Given the description of an element on the screen output the (x, y) to click on. 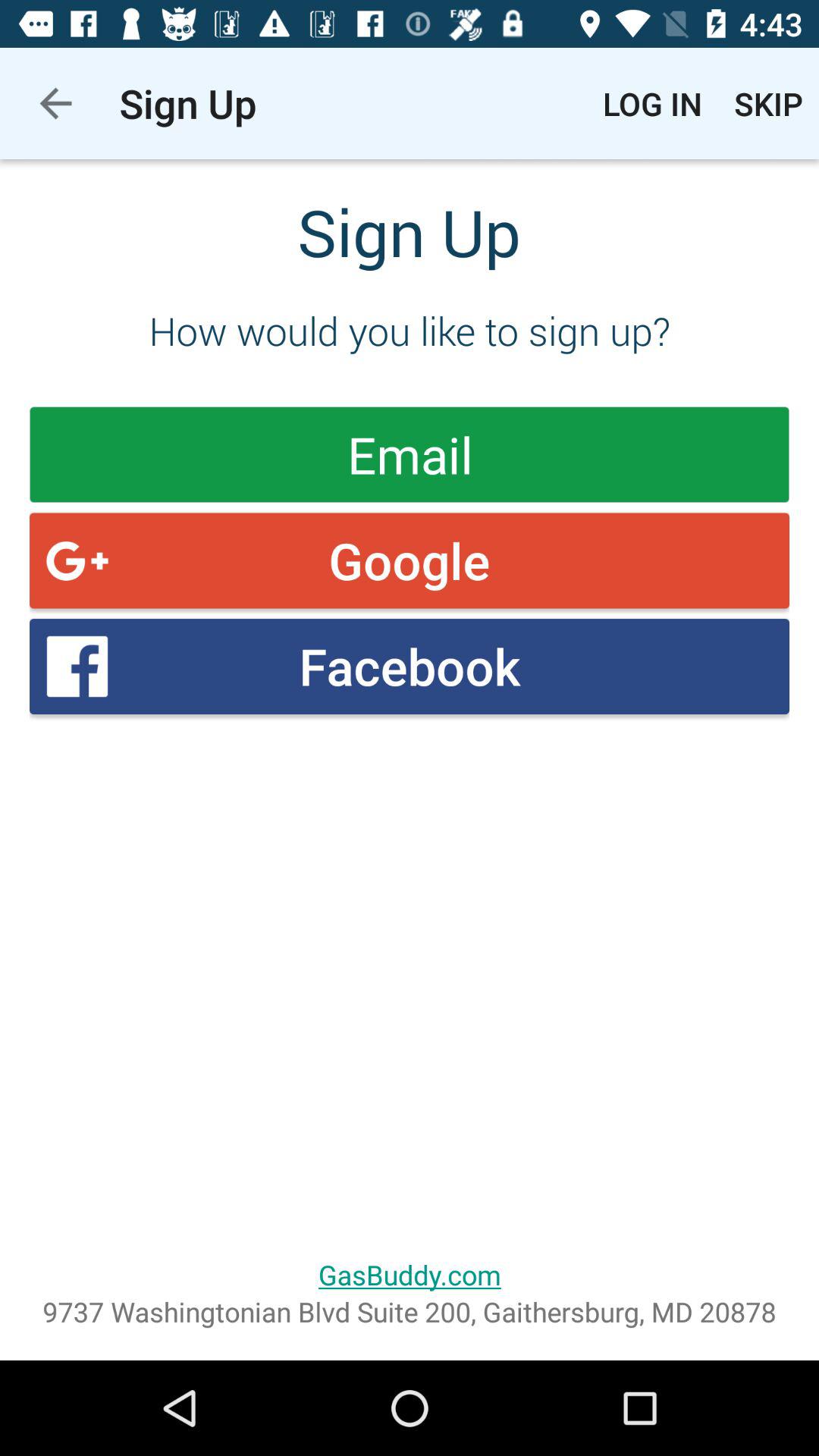
click skip icon (768, 103)
